Given the description of an element on the screen output the (x, y) to click on. 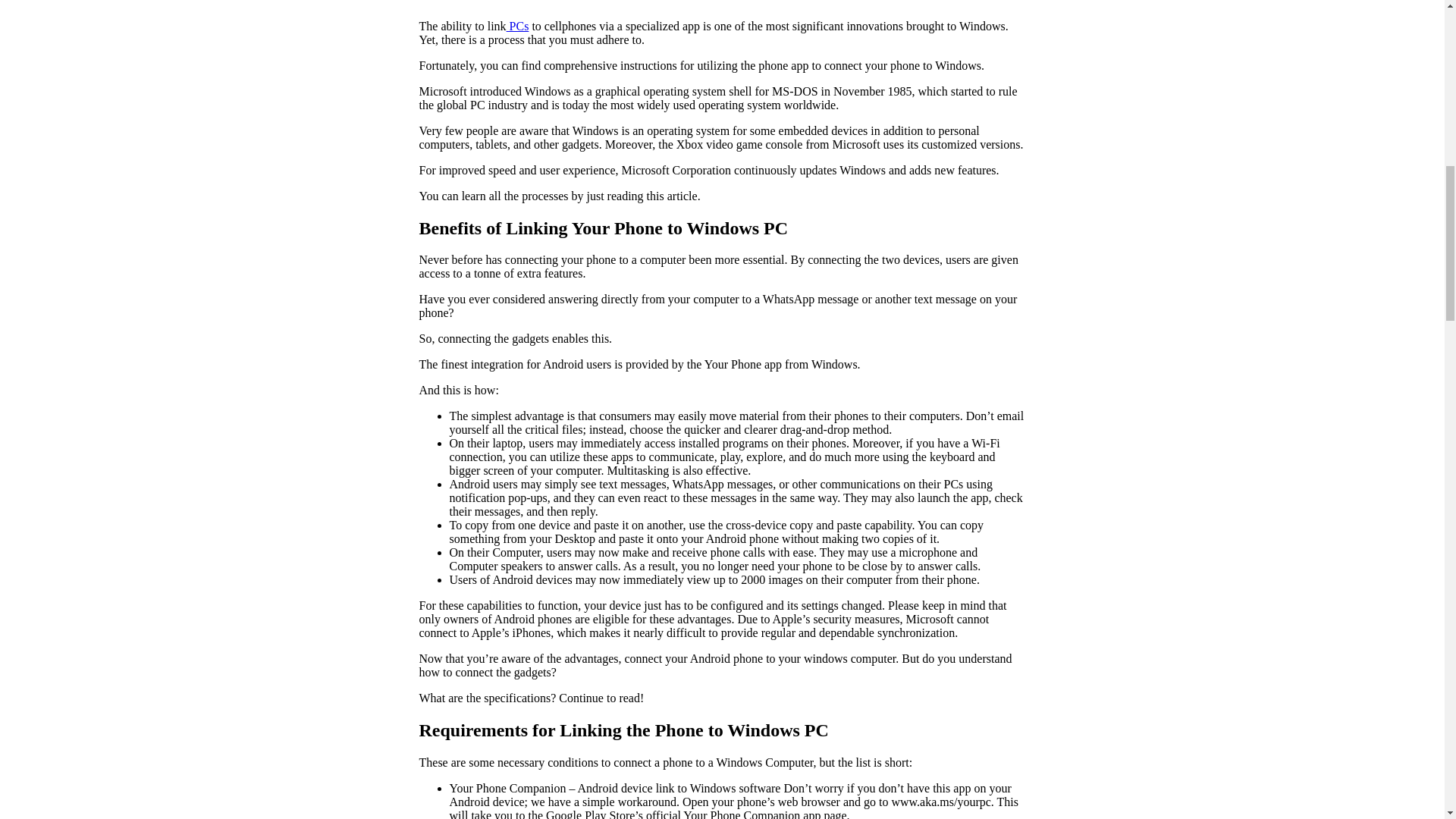
PCs (517, 25)
